Given the description of an element on the screen output the (x, y) to click on. 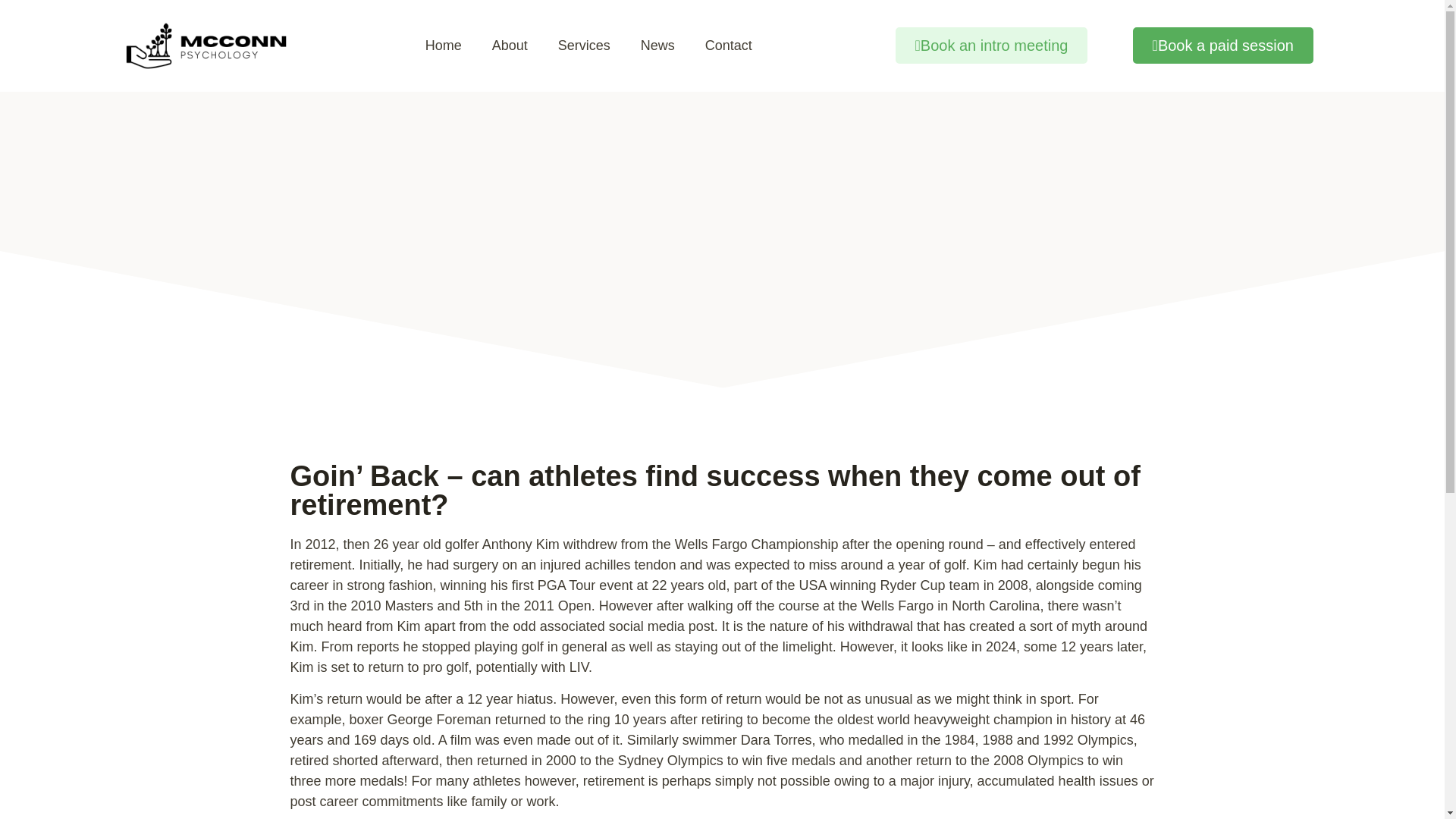
Services (584, 45)
Book an intro meeting (991, 45)
Home (443, 45)
Book a paid session (1222, 45)
About (510, 45)
News (658, 45)
Contact (728, 45)
